Given the description of an element on the screen output the (x, y) to click on. 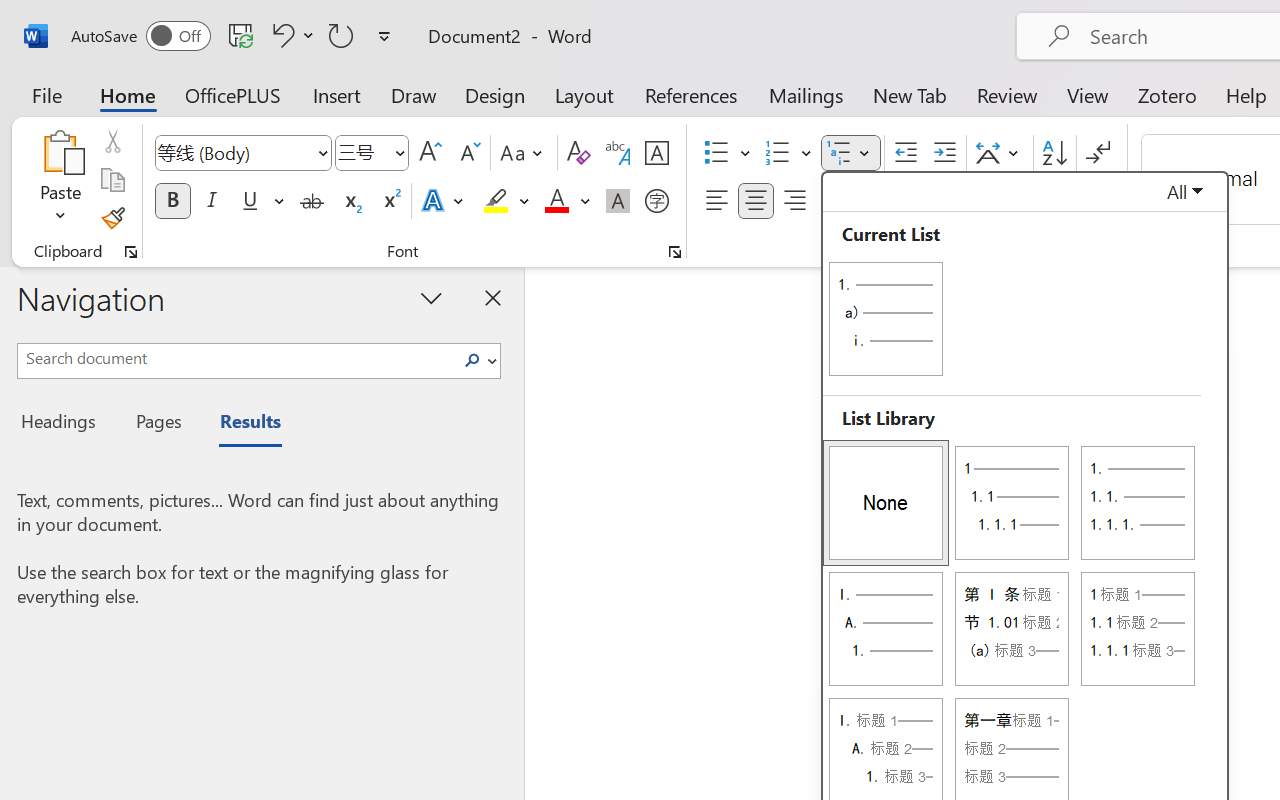
File Tab (46, 94)
Change Case (524, 153)
Review (1007, 94)
AutoSave (140, 35)
Home (127, 94)
Phonetic Guide... (618, 153)
Character Border (656, 153)
Align Right (794, 201)
Sort... (1054, 153)
Open (399, 152)
Repeat Doc Close (341, 35)
Numbering (788, 153)
Character Shading (618, 201)
Text Highlight Color (506, 201)
